Given the description of an element on the screen output the (x, y) to click on. 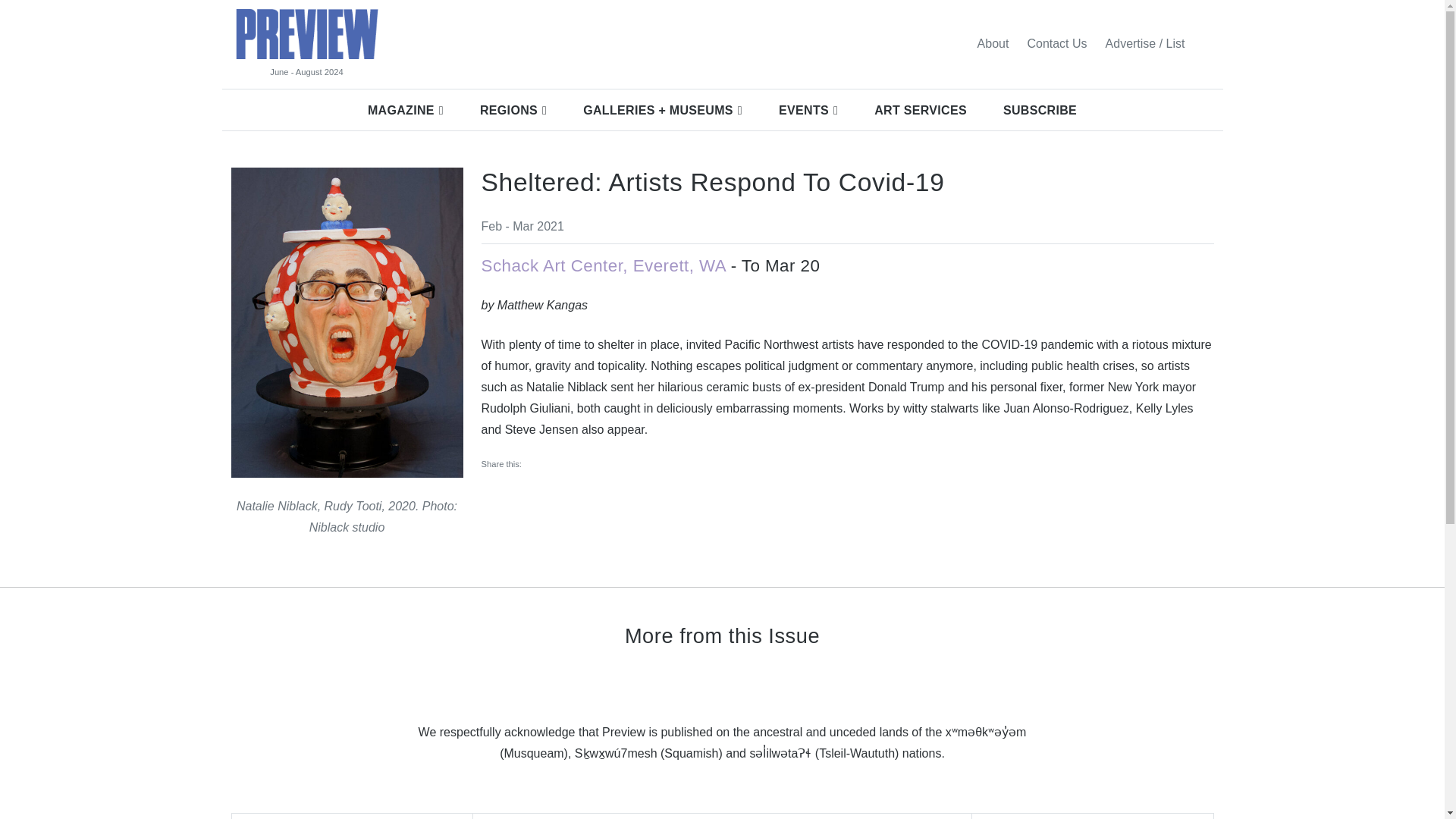
Schack Art Center, Everett, WA (602, 265)
EVENTS (808, 110)
SUBSCRIBE (1039, 110)
Feb - Mar 2021 (521, 226)
About (992, 43)
REGIONS (512, 110)
ART SERVICES (920, 110)
Contact Us (1056, 43)
Open Search (1202, 43)
June - August 2024 (305, 71)
MAGAZINE (405, 110)
